Given the description of an element on the screen output the (x, y) to click on. 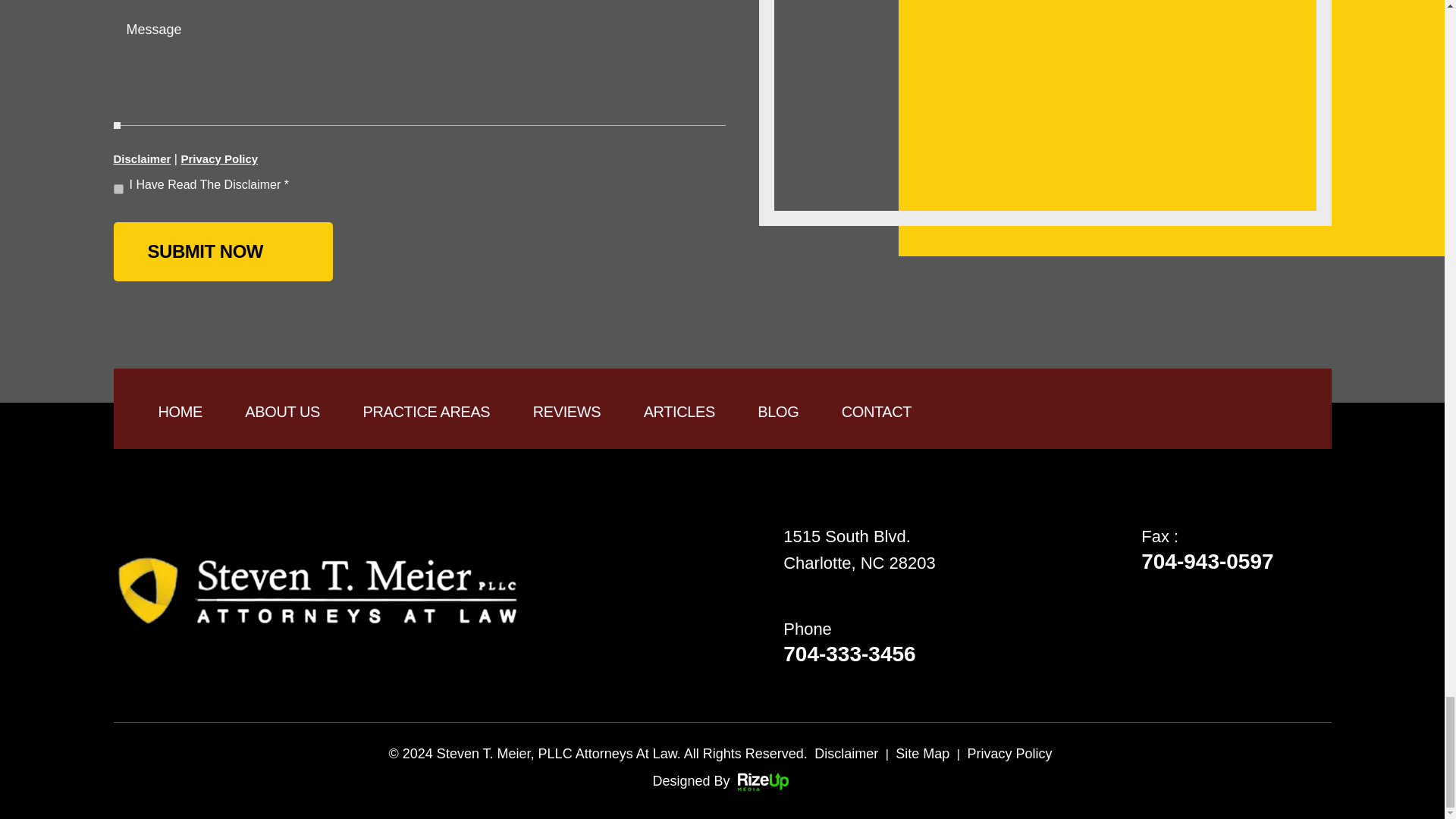
Submit Now (223, 251)
